Given the description of an element on the screen output the (x, y) to click on. 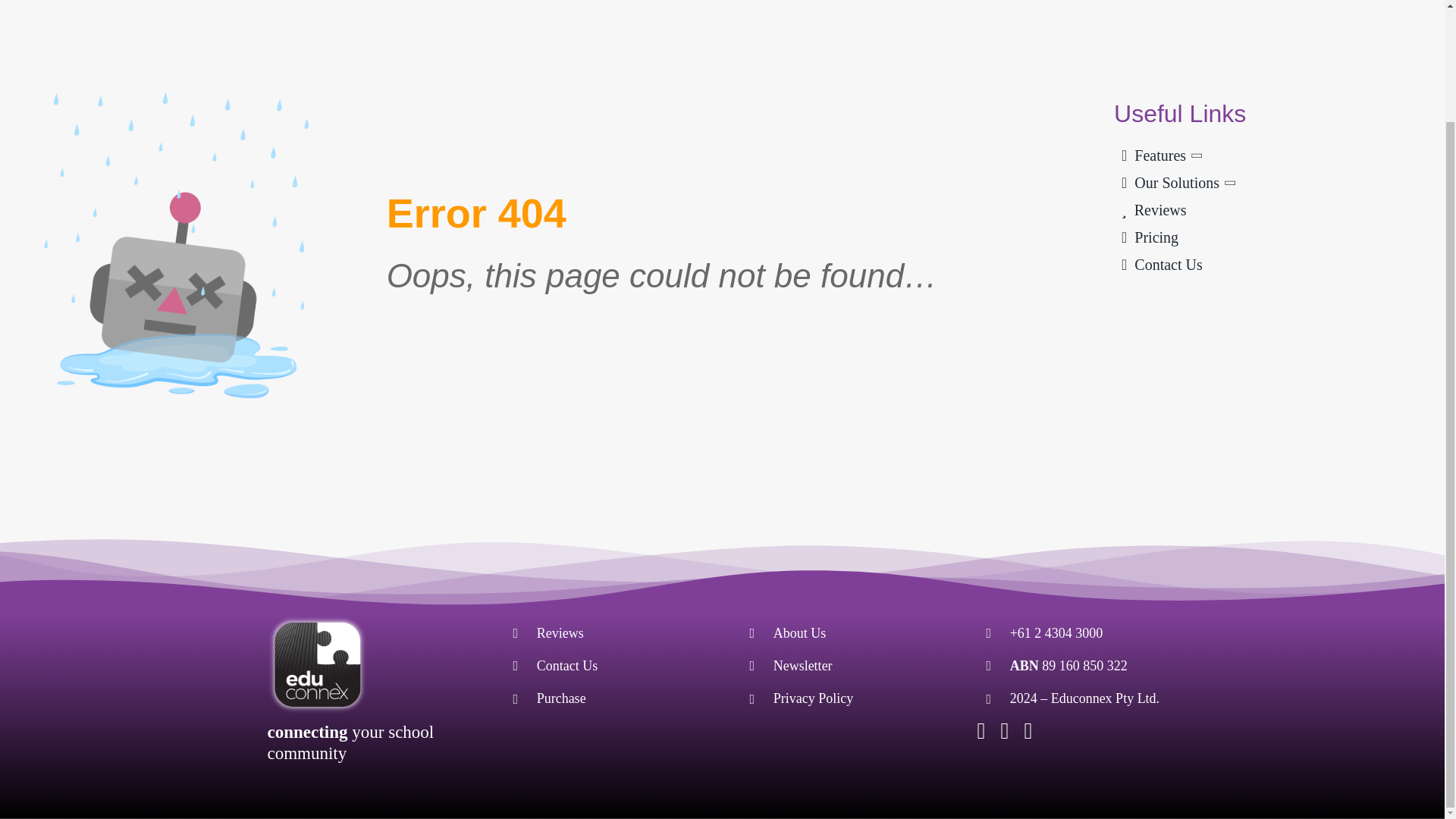
Contact Us (1267, 264)
Reviews (1267, 209)
Our Solutions (1267, 182)
About Us (800, 632)
Features (1267, 154)
Purchase (561, 698)
Pricing (1267, 236)
Newsletter (802, 665)
Contact Us (567, 665)
Submit (716, 463)
